Given the description of an element on the screen output the (x, y) to click on. 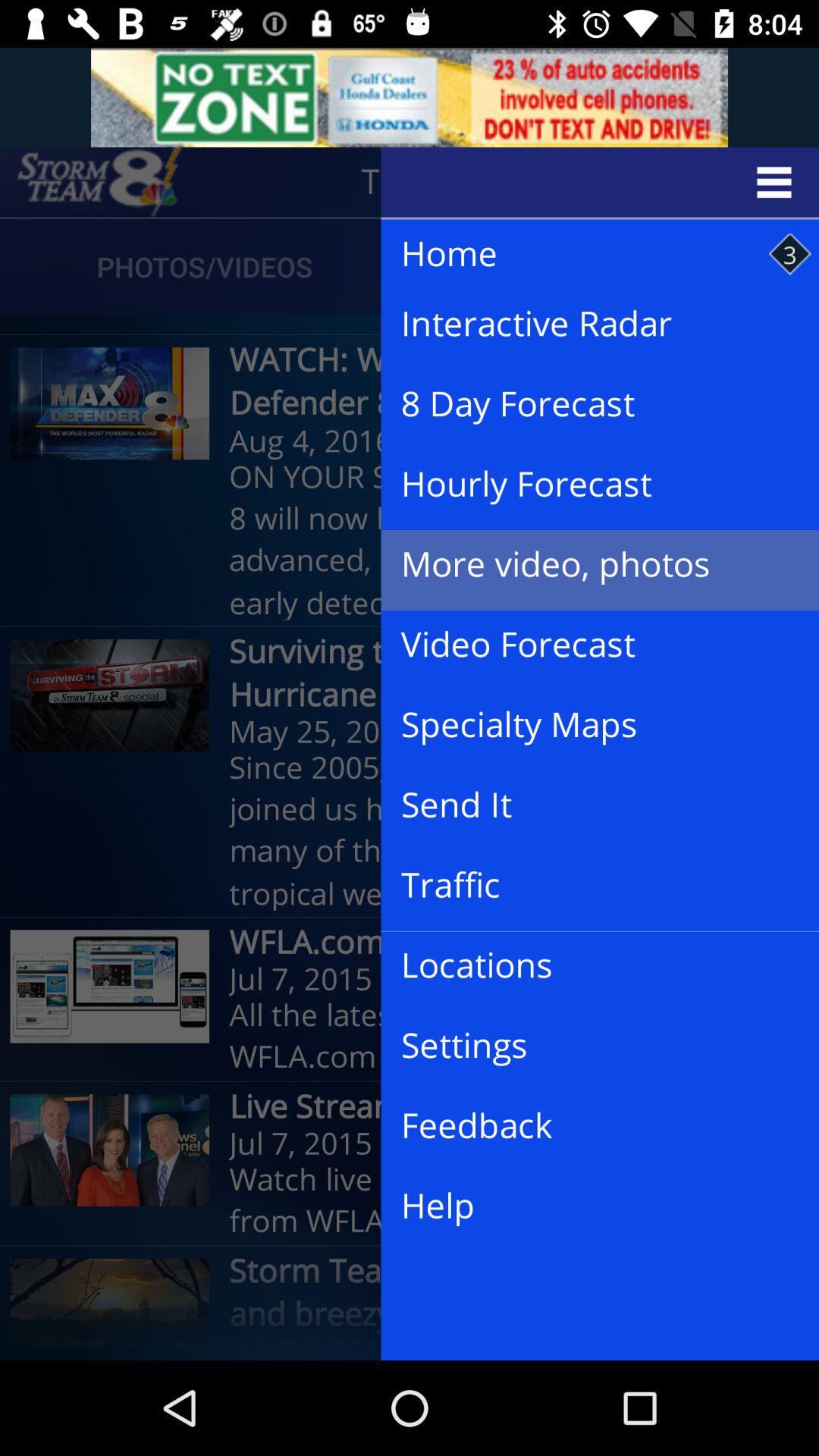
open advertisement (409, 97)
